Given the description of an element on the screen output the (x, y) to click on. 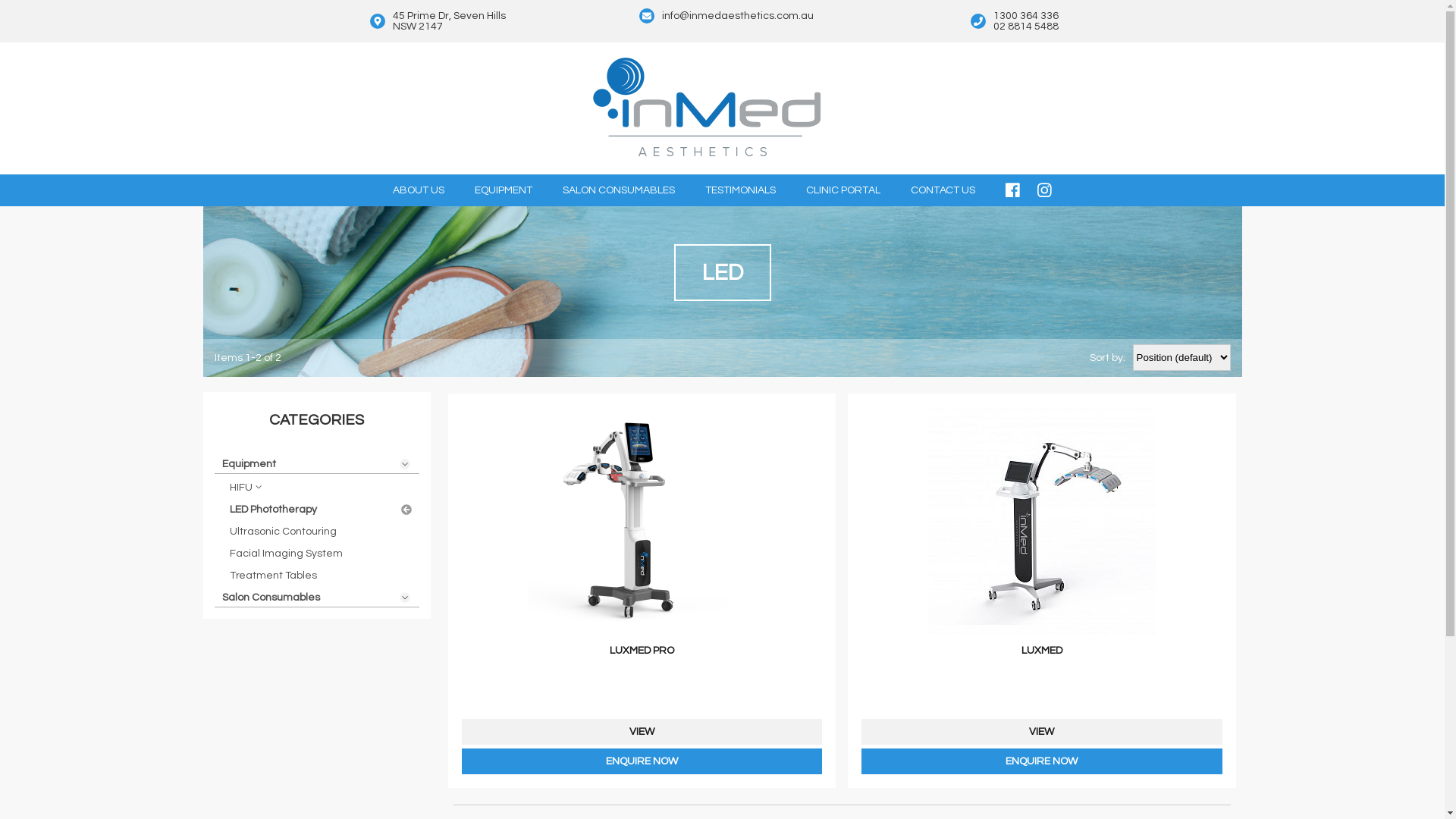
CONTACT US Element type: text (942, 190)
ENQUIRE NOW Element type: text (1041, 761)
CLINIC PORTAL Element type: text (843, 190)
VIEW Element type: text (1041, 731)
02 8814 5488 Element type: text (1025, 26)
1300 364 336 Element type: text (1025, 15)
ENQUIRE NOW Element type: text (641, 761)
LUXMED PRO Element type: text (641, 545)
EQUIPMENT Element type: text (503, 190)
VIEW Element type: text (641, 731)
TESTIMONIALS Element type: text (740, 190)
LED Phototherapy Element type: text (319, 507)
info@inmedaesthetics.com.au Element type: text (736, 15)
Facial Imaging System Element type: text (319, 551)
ABOUT US Element type: text (418, 190)
LUXMED Element type: text (1041, 545)
Treatment Tables Element type: text (319, 573)
Ultrasonic Contouring Element type: text (319, 529)
SALON CONSUMABLES Element type: text (618, 190)
